Given the description of an element on the screen output the (x, y) to click on. 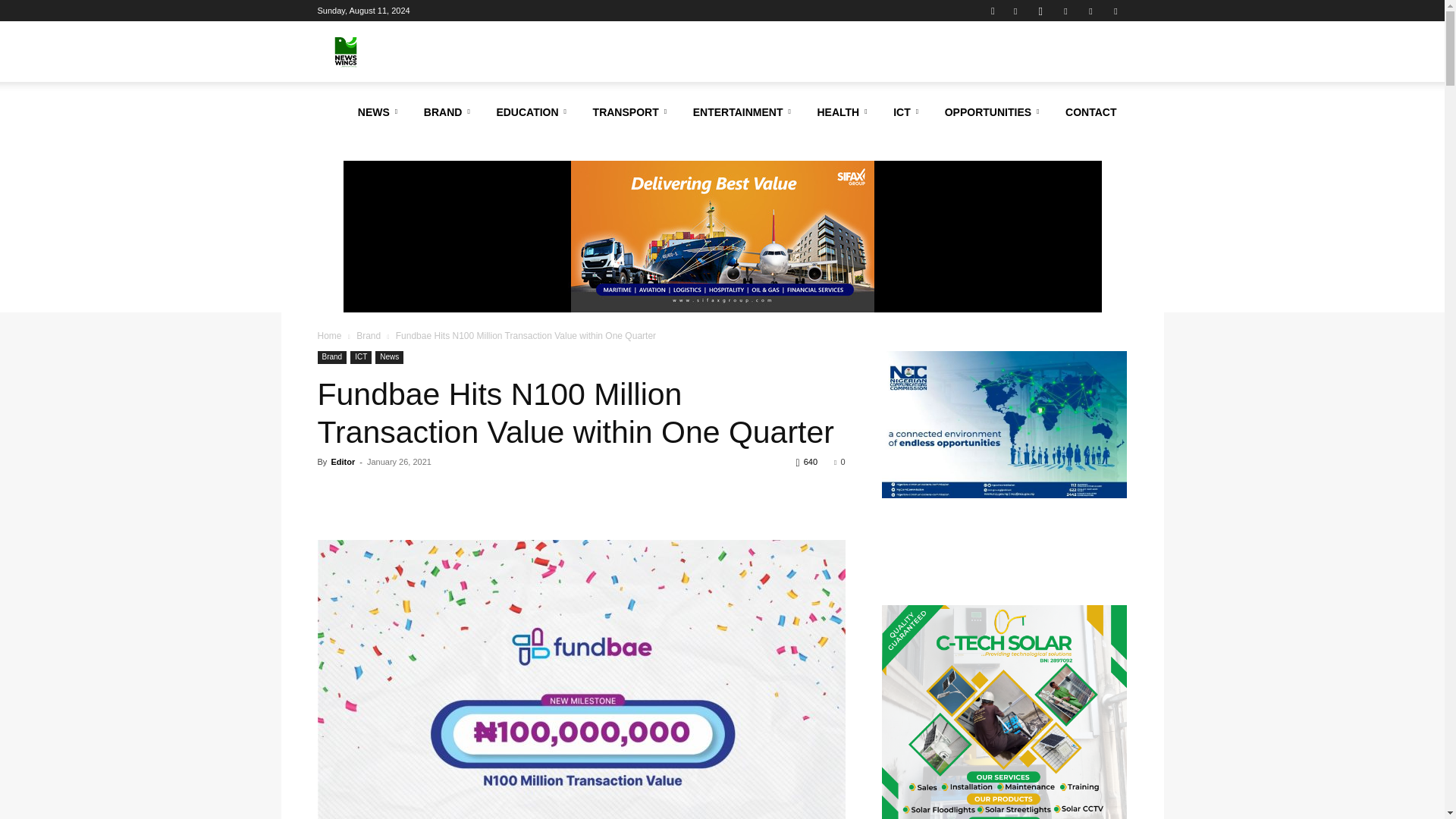
Search (1085, 64)
Twitter (1114, 10)
Instagram (1040, 10)
NEWS (380, 111)
Facebook (1015, 10)
Mail (1090, 10)
News Wings (344, 51)
Linkedin (1065, 10)
